Given the description of an element on the screen output the (x, y) to click on. 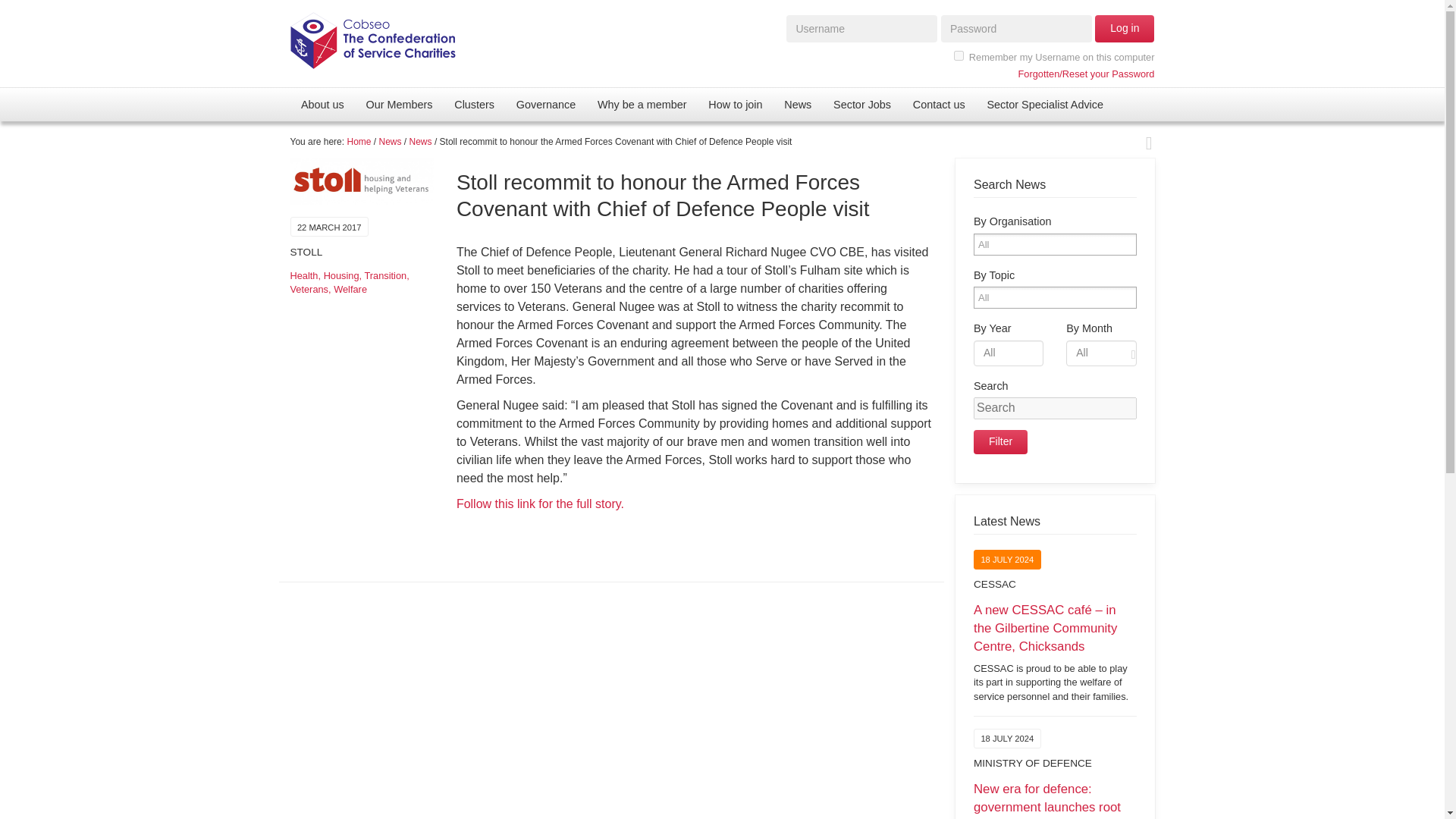
Clusters (474, 104)
Sector Jobs (862, 104)
About us (322, 104)
News (797, 104)
Contact us (938, 104)
How to join (735, 104)
Sector Specialist Advice (1044, 104)
Why be a member (641, 104)
Log in (1124, 28)
Filter (1000, 441)
All (992, 297)
Governance (545, 104)
Our Members (399, 104)
All (992, 244)
